Given the description of an element on the screen output the (x, y) to click on. 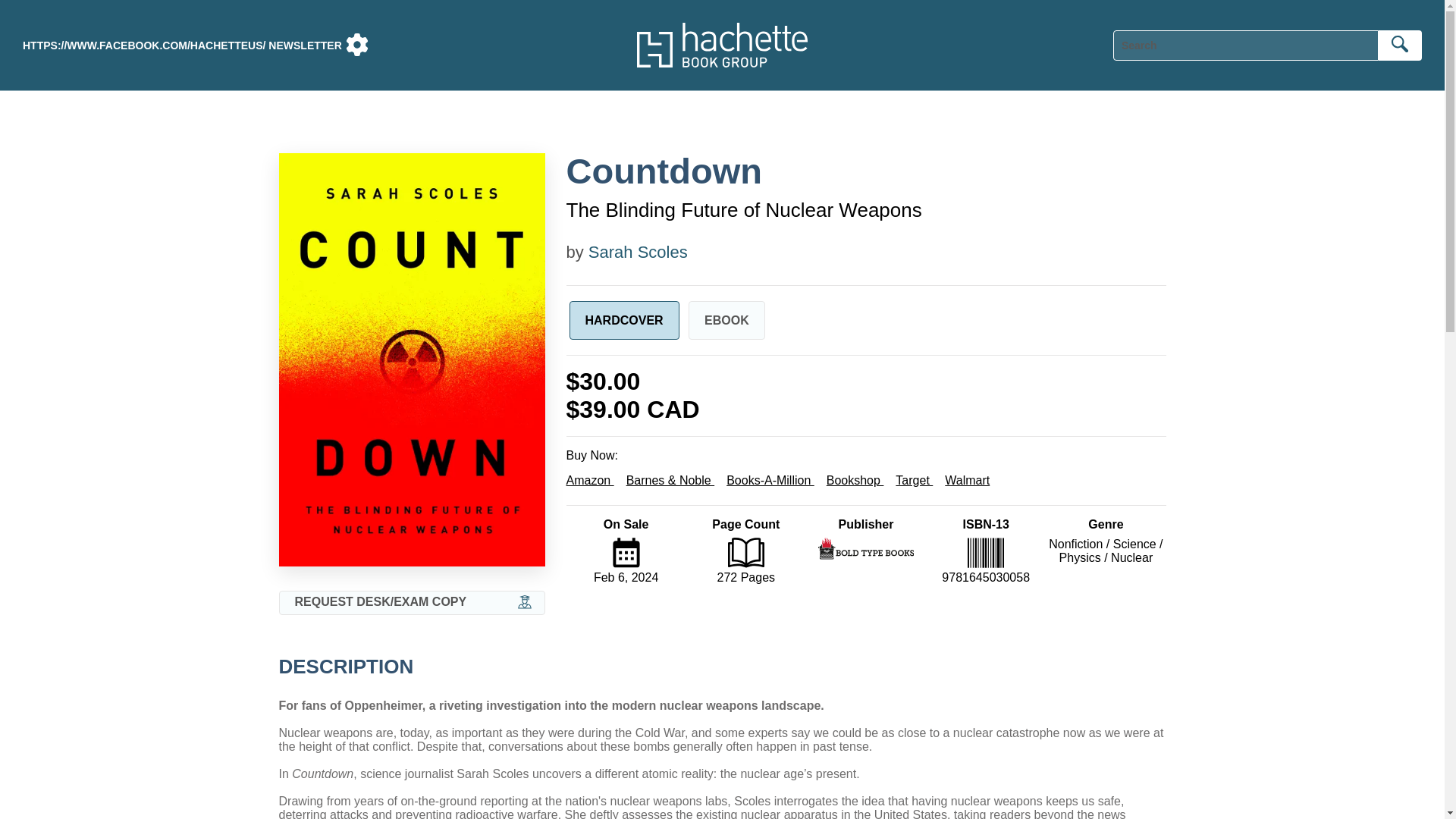
HARDCOVER (623, 320)
Physics (1079, 557)
Amazon (589, 480)
Nuclear (1131, 557)
EBOOK (726, 320)
Books-A-Million (769, 480)
ebook (726, 320)
Science (1134, 543)
Sarah Scoles (637, 251)
Target (914, 480)
Nonfiction (1075, 543)
NEWSLETTER (303, 45)
Bookshop (855, 480)
ACADEMIC ICON ACADEMIC ICON (524, 602)
Walmart (967, 480)
